Given the description of an element on the screen output the (x, y) to click on. 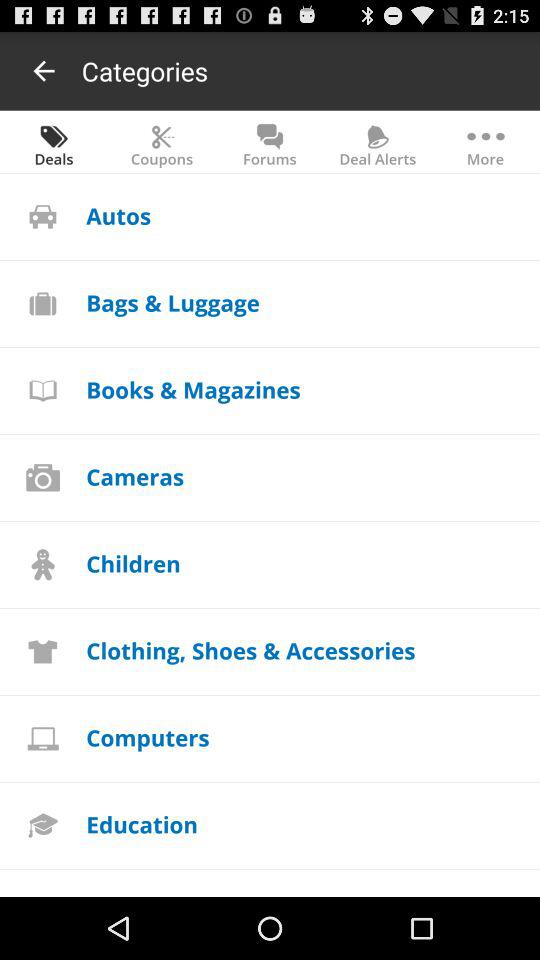
click app to the left of categories (44, 70)
